Given the description of an element on the screen output the (x, y) to click on. 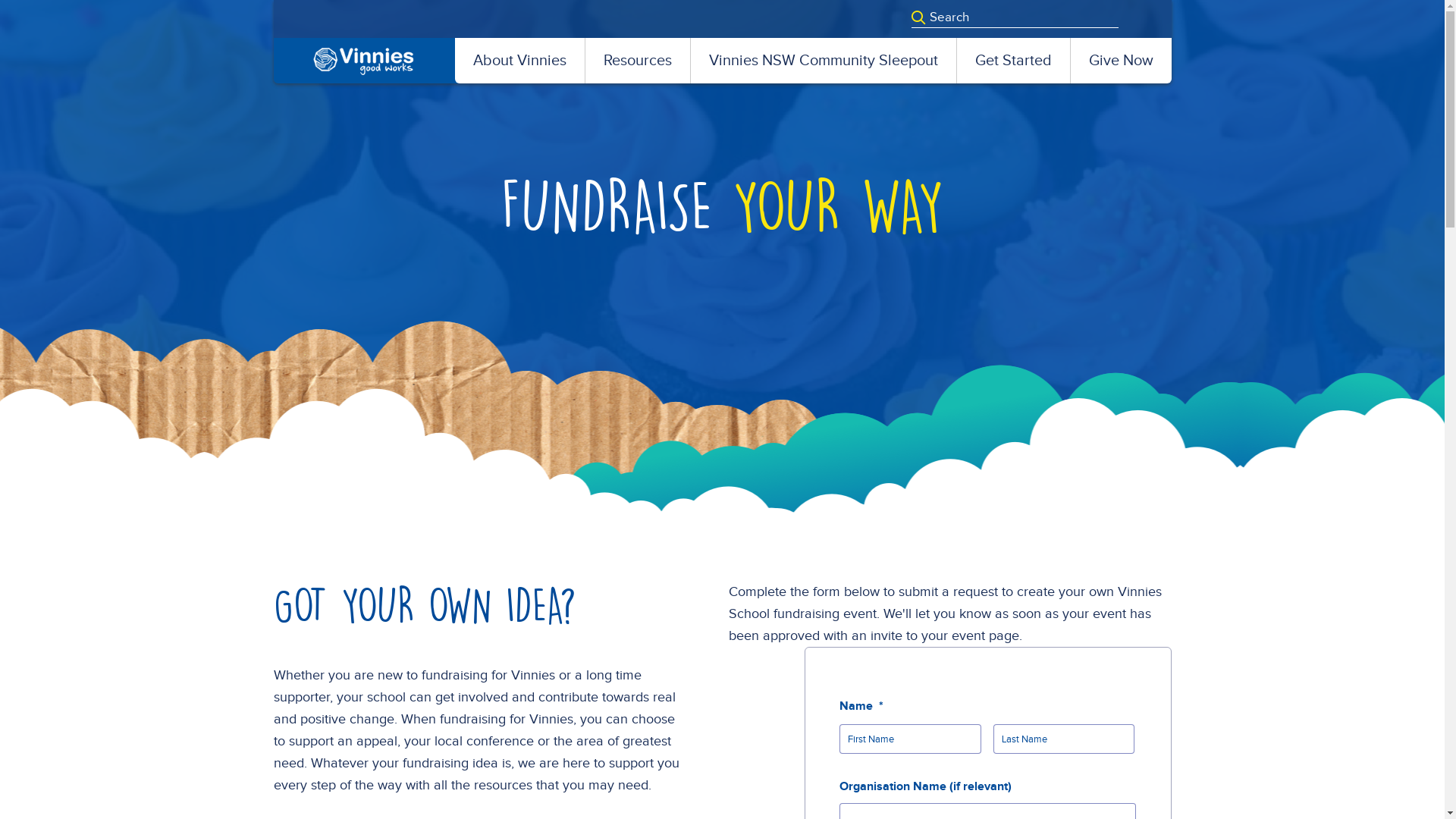
Vinnies NSW Community Sleepout Element type: text (822, 60)
Resources Element type: text (637, 60)
Get Started Element type: text (1013, 60)
About Vinnies Element type: text (519, 60)
Give Now Element type: text (1120, 60)
